Given the description of an element on the screen output the (x, y) to click on. 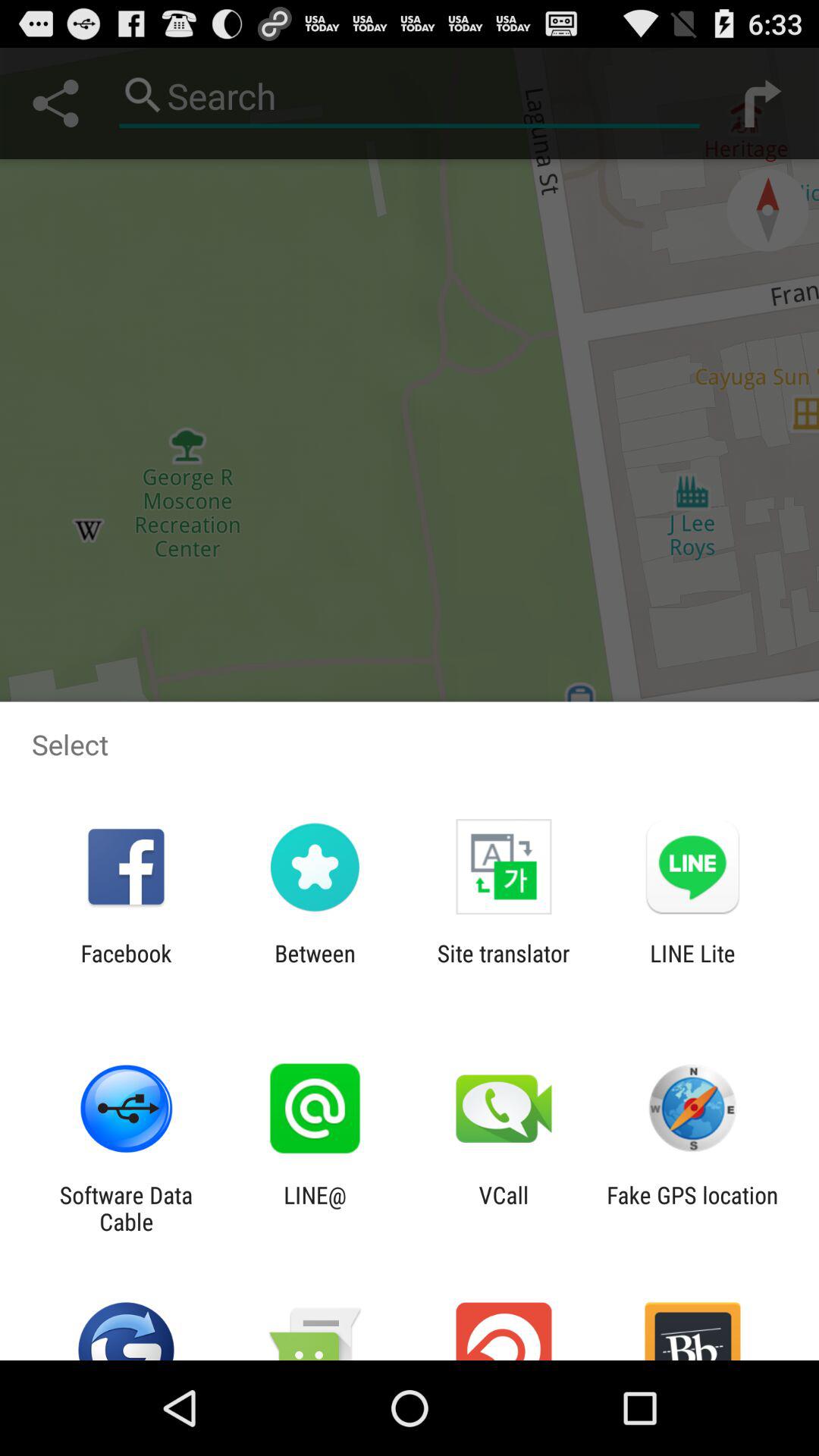
click app next to the fake gps location app (503, 1208)
